Given the description of an element on the screen output the (x, y) to click on. 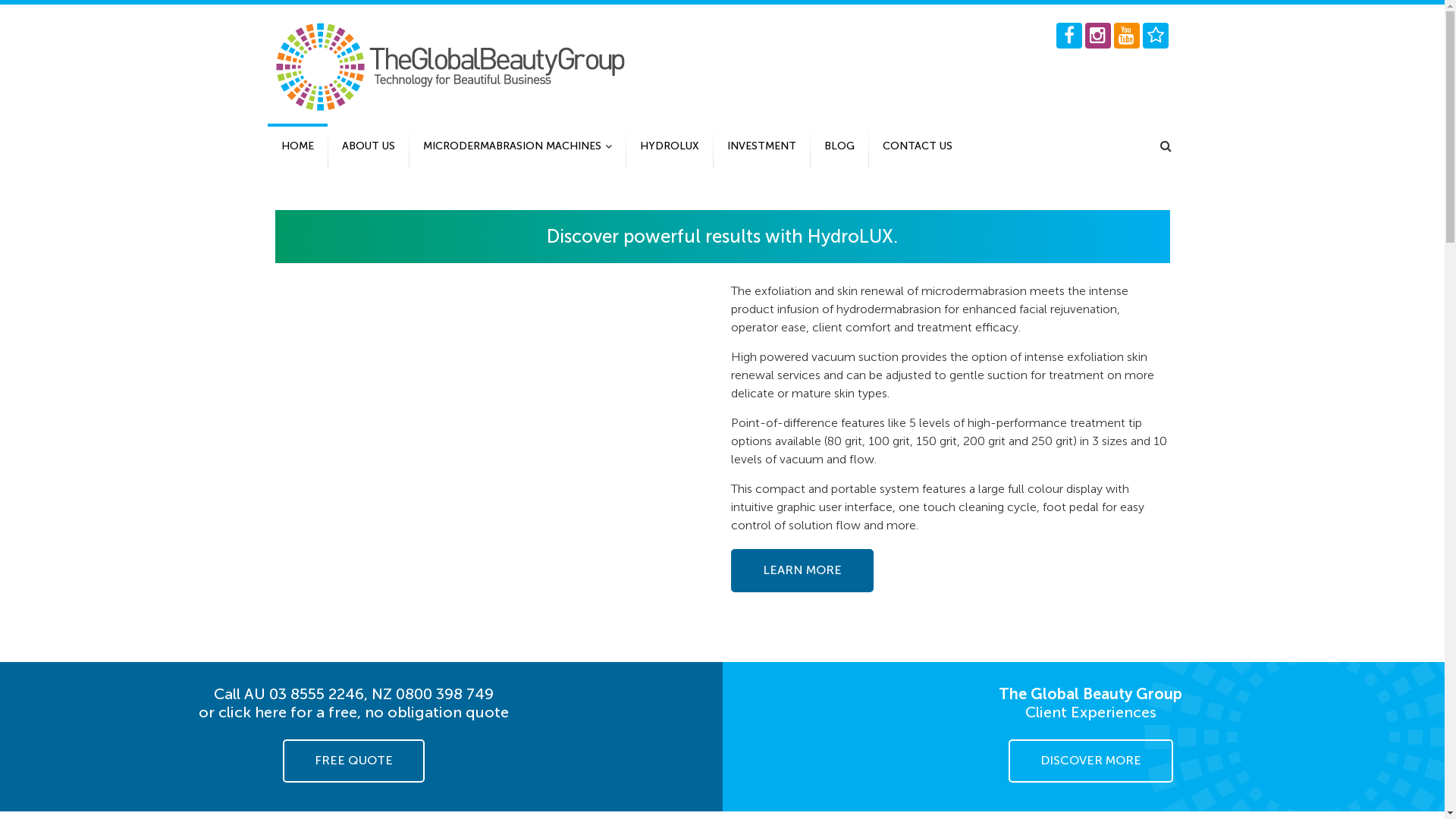
LEARN MORE Element type: text (802, 570)
FREE QUOTE Element type: text (353, 760)
ABOUT US Element type: text (367, 145)
MICRODERMABRASION MACHINES Element type: text (517, 145)
YouTube Element type: hover (1126, 35)
HOME Element type: text (296, 145)
CONTACT US Element type: text (917, 145)
DISCOVER MORE Element type: text (1090, 760)
HYDROLUX Element type: text (669, 145)
BLOG Element type: text (838, 145)
INVESTMENT Element type: text (760, 145)
Facebook Element type: hover (1068, 35)
Instagram Element type: hover (1097, 35)
